Given the description of an element on the screen output the (x, y) to click on. 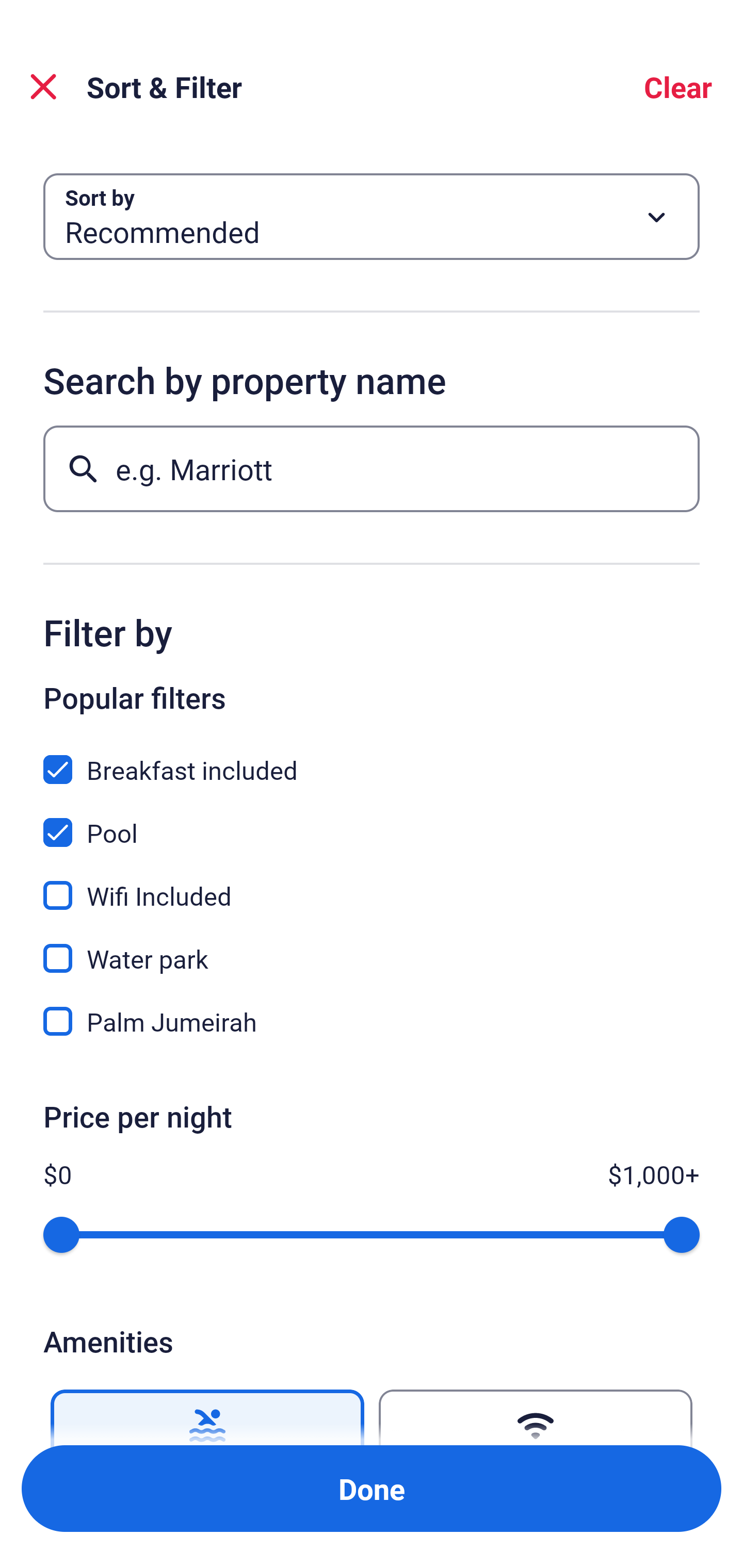
Close Sort and Filter (43, 86)
Clear (677, 86)
Sort by Button Recommended (371, 217)
e.g. Marriott Button (371, 468)
Breakfast included, Breakfast included (371, 757)
Pool, Pool (371, 821)
Wifi Included, Wifi Included (371, 883)
Water park, Water park (371, 946)
Palm Jumeirah, Palm Jumeirah (371, 1021)
Apply and close Sort and Filter Done (371, 1488)
